Given the description of an element on the screen output the (x, y) to click on. 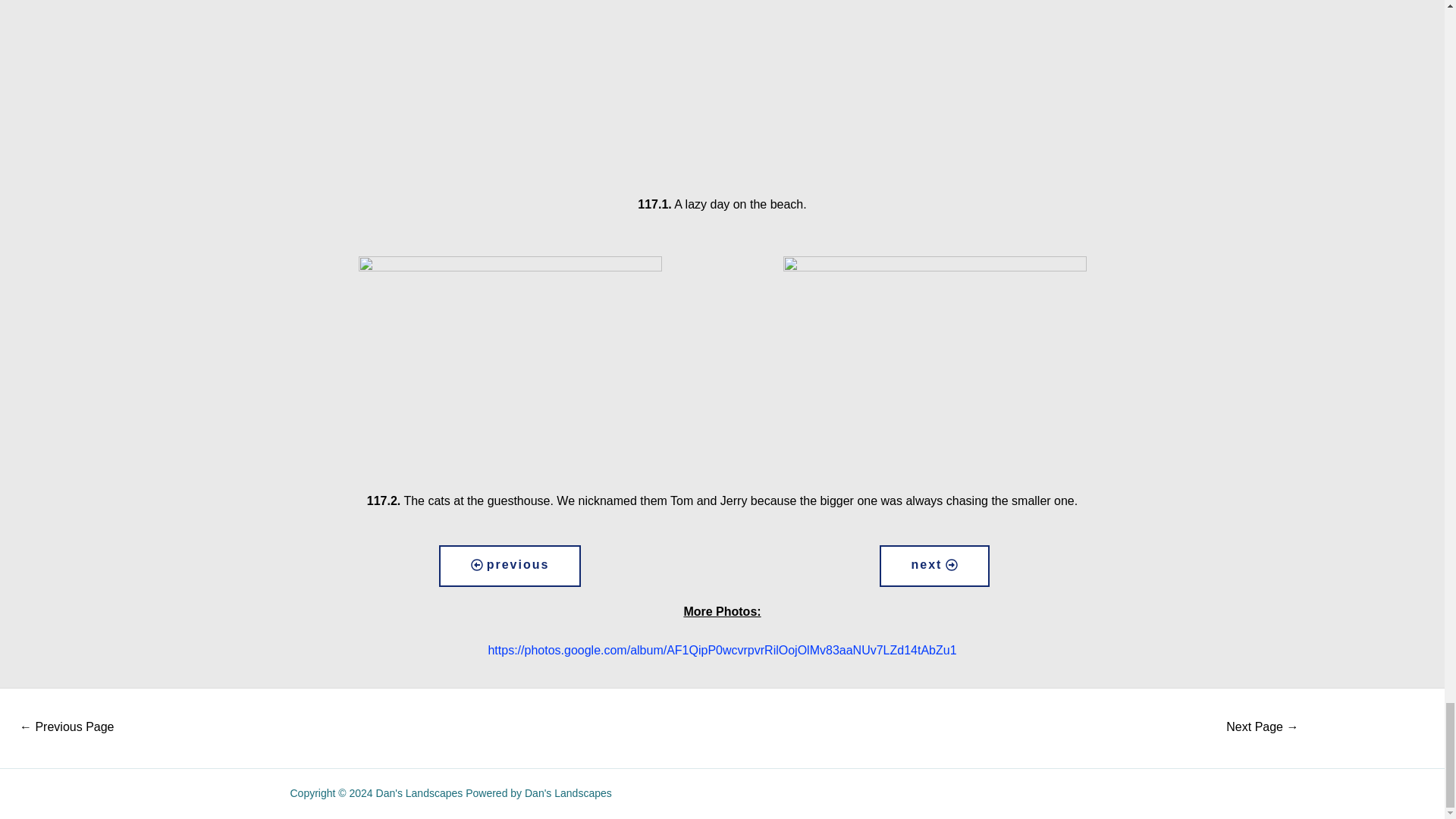
previous (509, 566)
next (934, 566)
Penang Langkawi (1261, 728)
Akha Trail2 (66, 728)
